Given the description of an element on the screen output the (x, y) to click on. 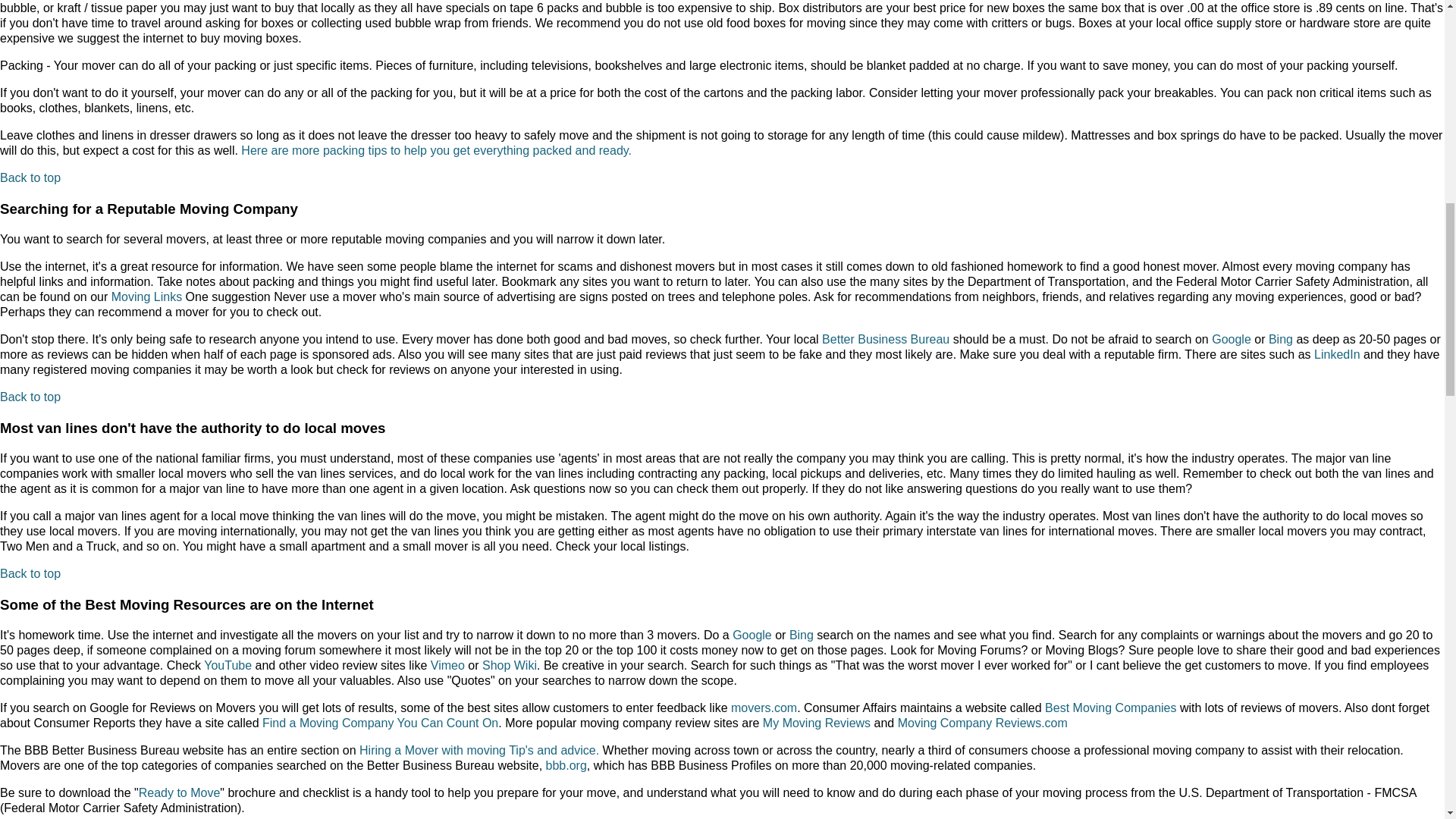
movers.com (763, 707)
LinkedIn (1336, 354)
Google (1230, 338)
Back to top (30, 573)
Google (751, 634)
bbb.org (566, 765)
Back to top (30, 177)
Find a Moving Company You Can Count On (379, 722)
Moving Company Reviews.com (982, 722)
